Given the description of an element on the screen output the (x, y) to click on. 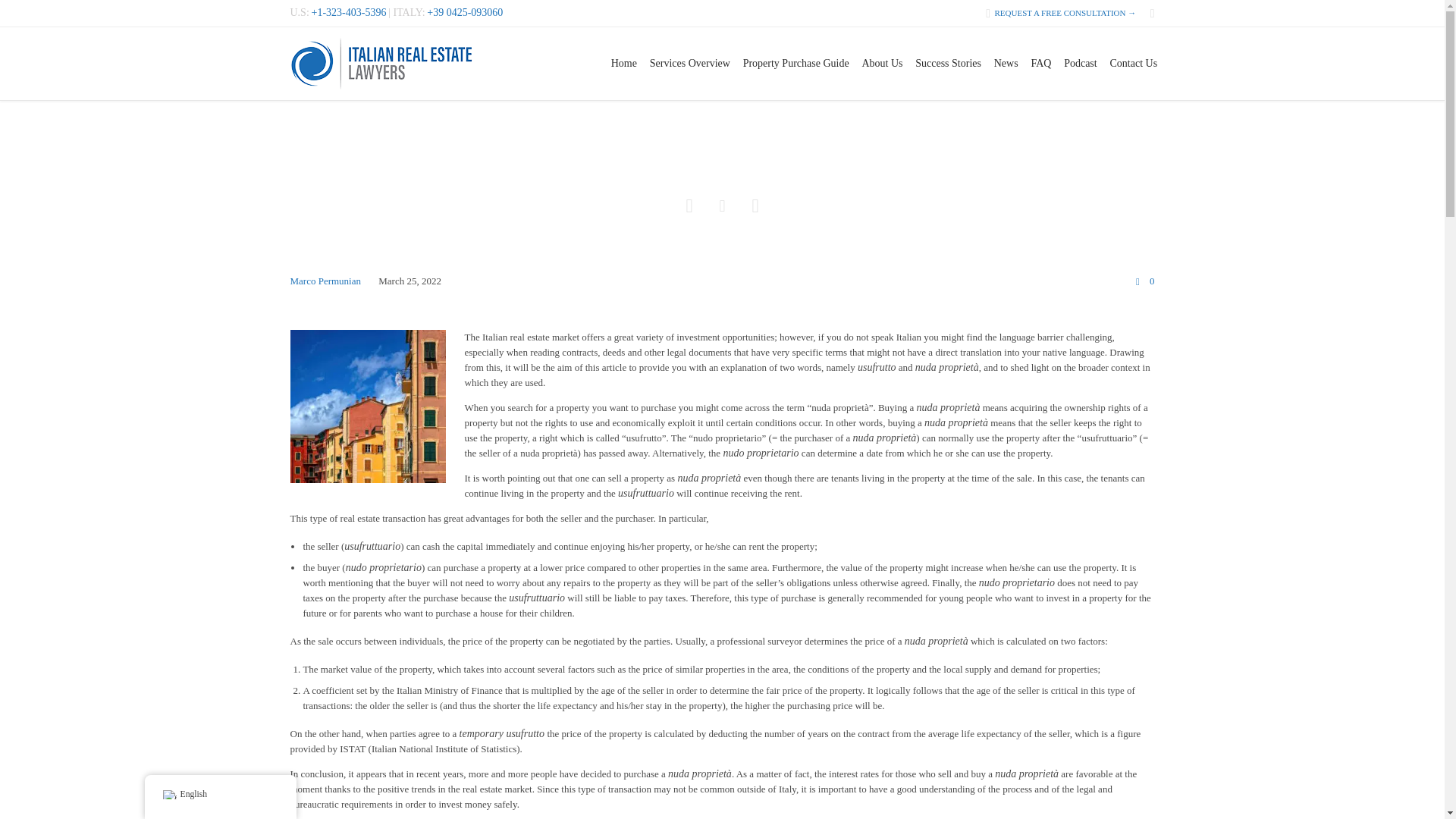
News (1006, 63)
FAQ (1041, 63)
Services Overview (689, 63)
Podcast (1080, 63)
Home (623, 63)
Contact Us (1133, 63)
About Us (882, 63)
Property Purchase Guide (796, 63)
Posts by Marco Permunian (325, 280)
Success Stories (948, 63)
Marco Permunian (325, 280)
